Given the description of an element on the screen output the (x, y) to click on. 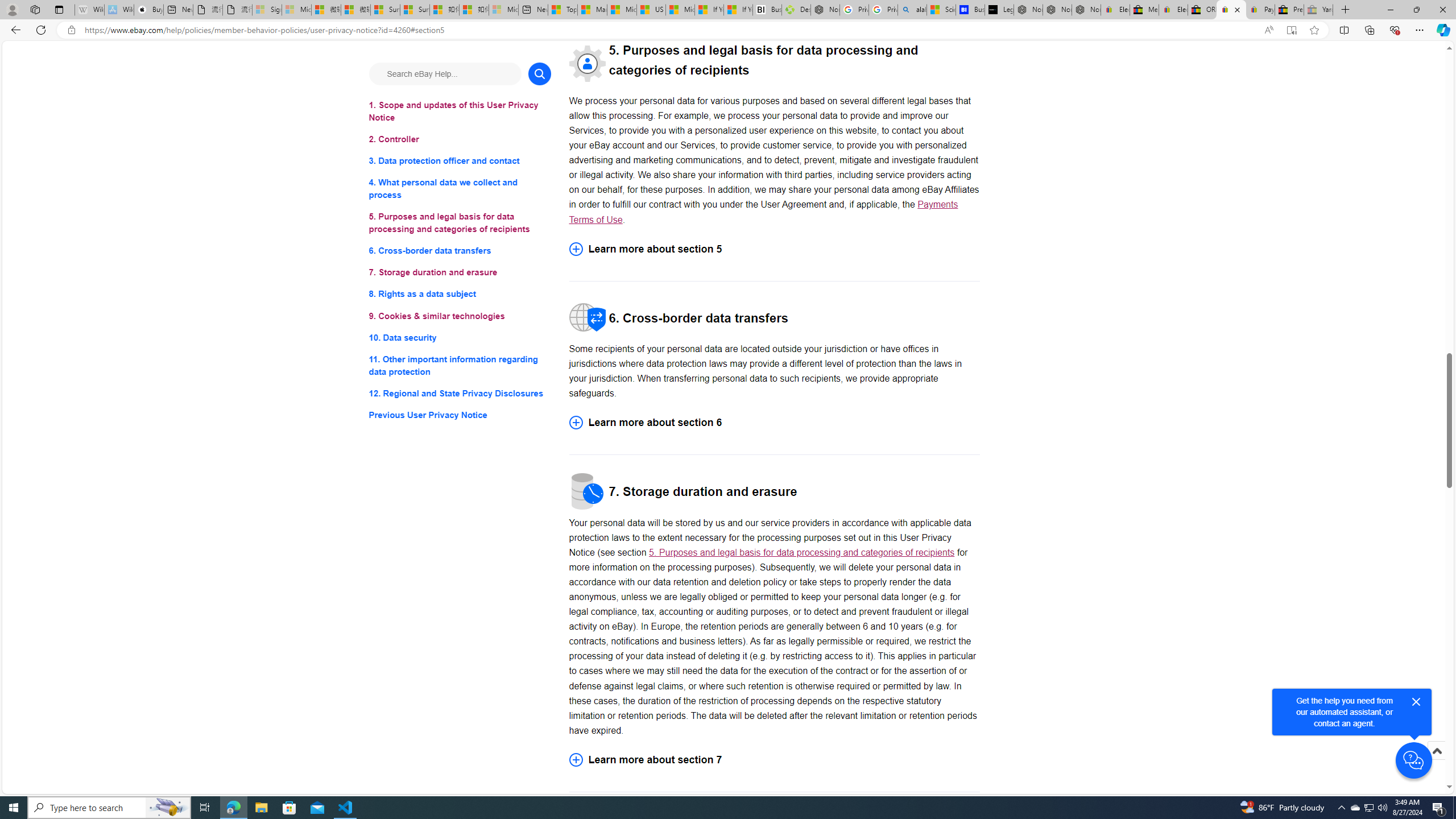
Learn more about section 7 (774, 759)
Scroll to top (1435, 750)
Payments Terms of Use - opens in new window or tab (763, 211)
10. Data security (459, 336)
3. Data protection officer and contact (459, 160)
11. Other important information regarding data protection (459, 365)
